Given the description of an element on the screen output the (x, y) to click on. 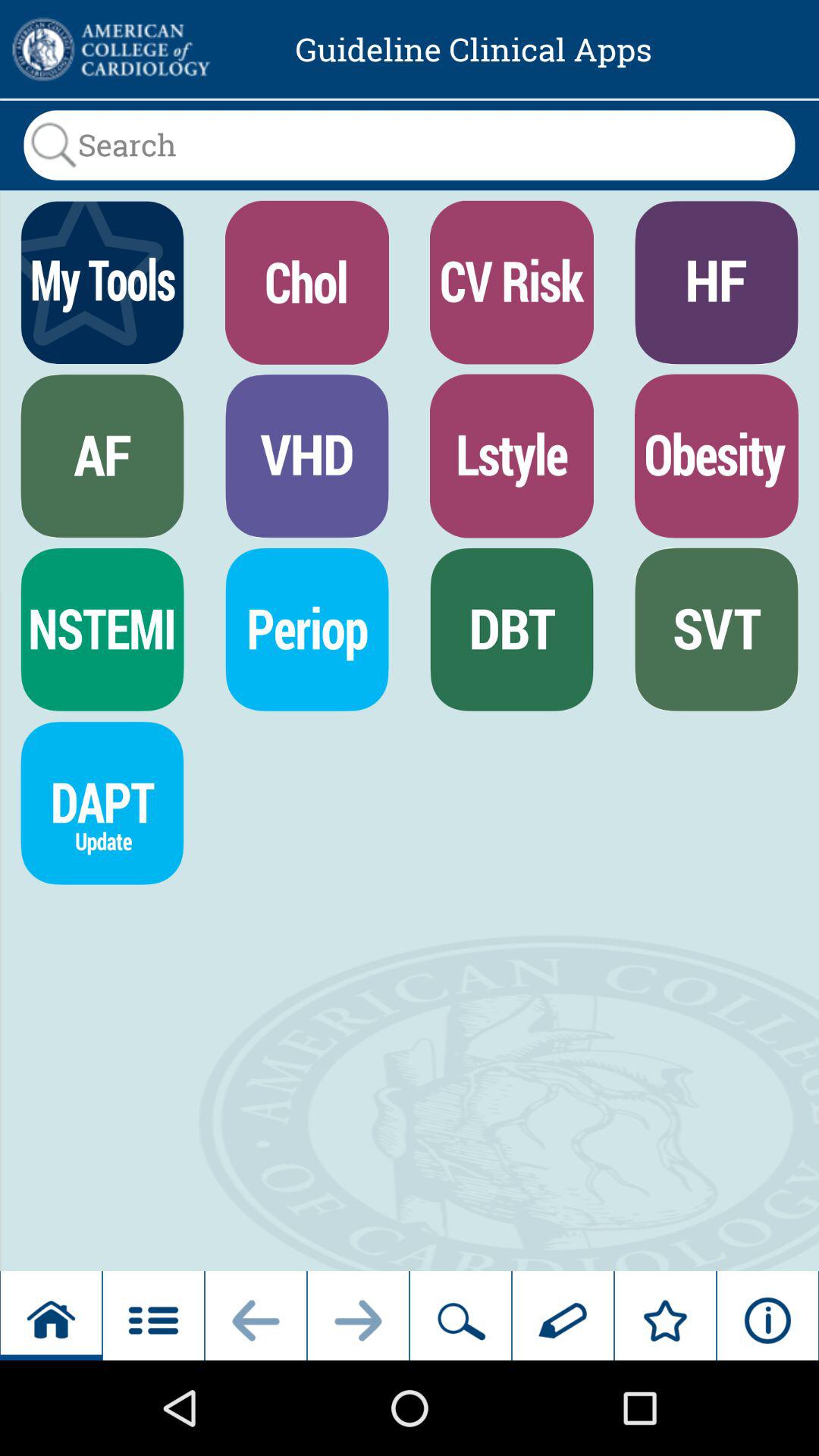
toggle the search (409, 145)
